Given the description of an element on the screen output the (x, y) to click on. 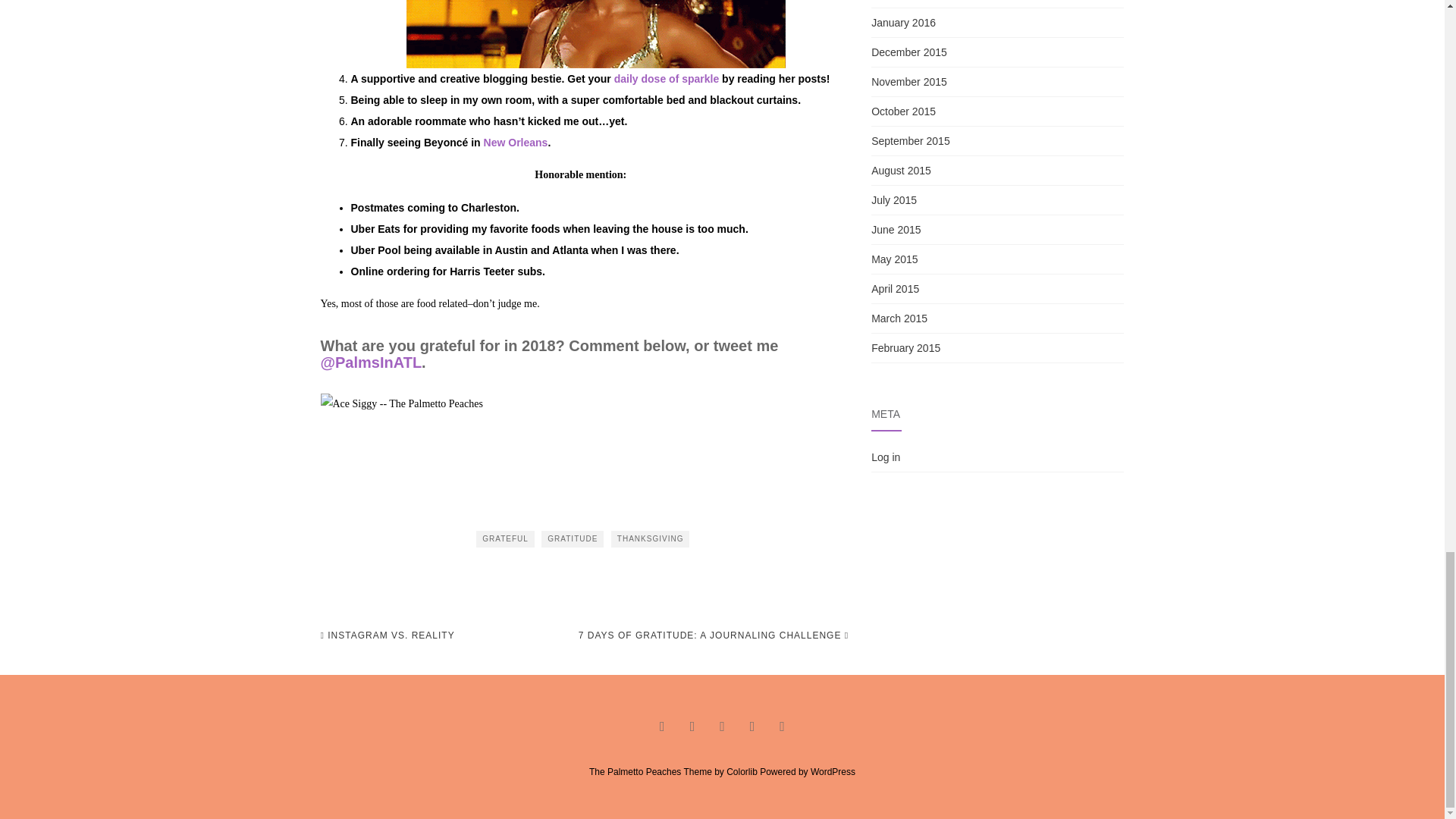
THANKSGIVING (650, 538)
daily dose of sparkle (666, 78)
7 DAYS OF GRATITUDE: A JOURNALING CHALLENGE (713, 635)
GRATITUDE (572, 538)
New Orleans (515, 142)
INSTAGRAM VS. REALITY (387, 635)
GRATEFUL (505, 538)
